Given the description of an element on the screen output the (x, y) to click on. 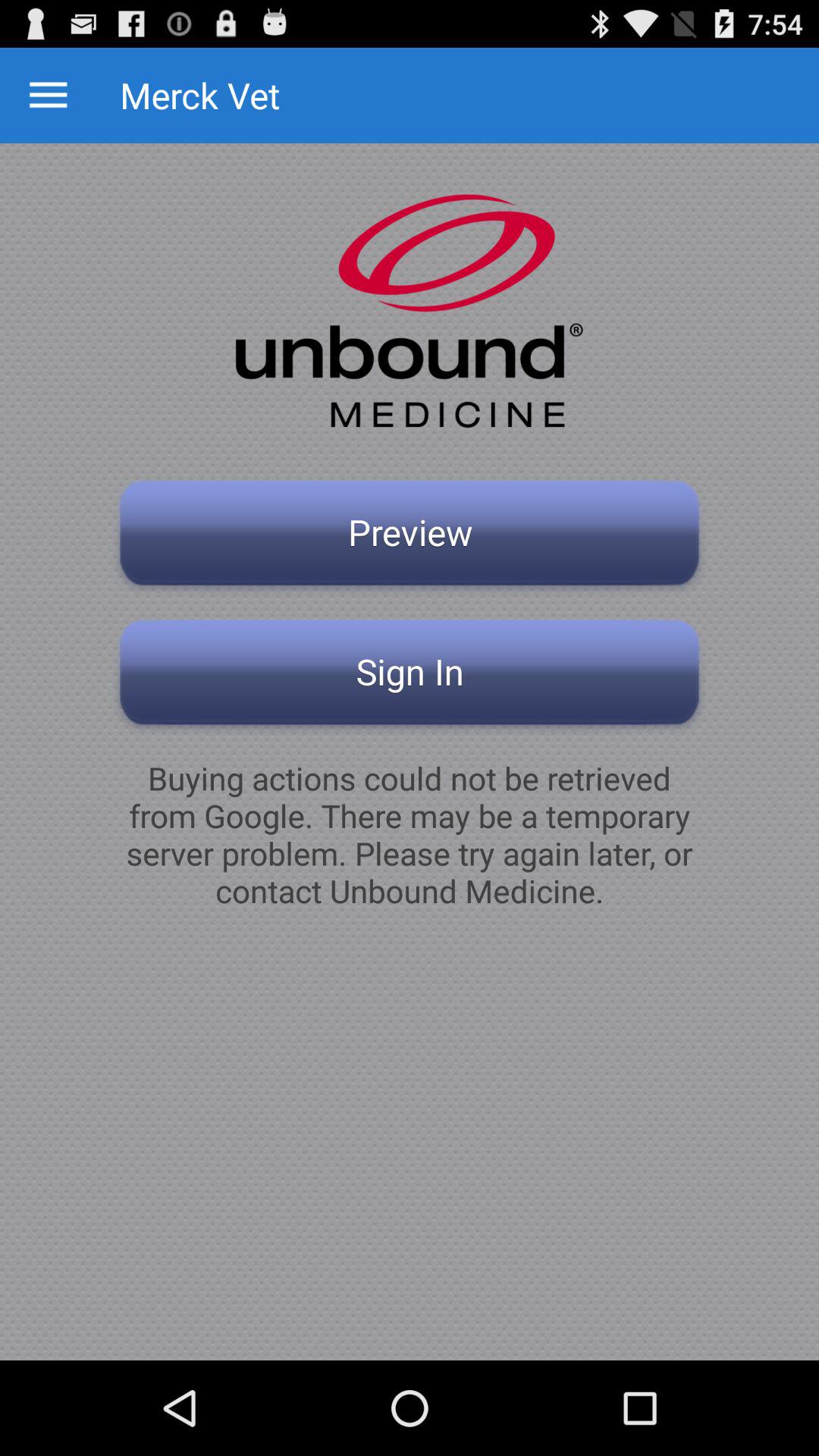
jump to the preview button (409, 537)
